Given the description of an element on the screen output the (x, y) to click on. 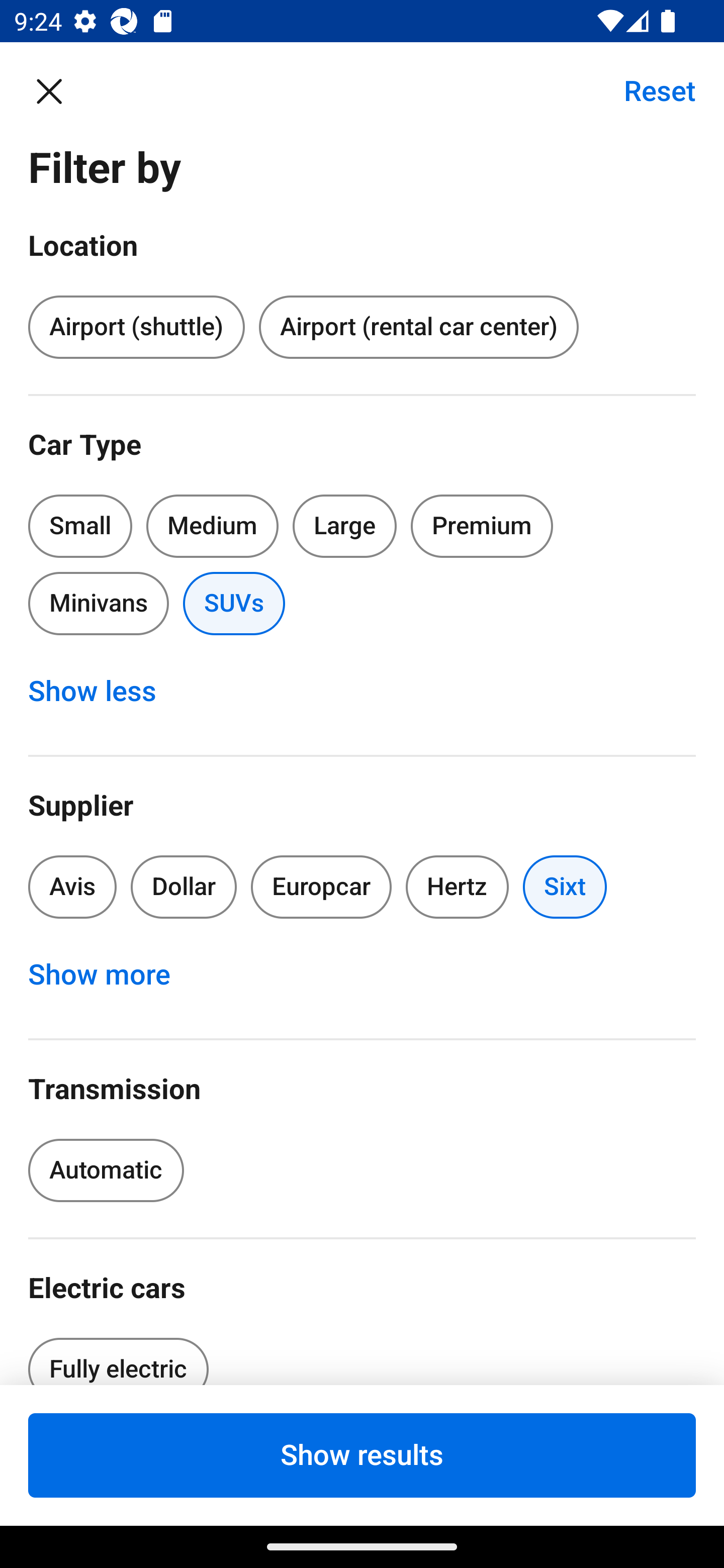
Close (59, 90)
Reset (649, 90)
Airport (shuttle) (136, 327)
Airport (rental car center) (418, 327)
Small (80, 525)
Medium (212, 525)
Large (344, 525)
Premium (482, 525)
Minivans (98, 603)
Show less (102, 691)
Avis (72, 887)
Dollar (183, 887)
Europcar (321, 887)
Hertz (457, 887)
Show more (109, 974)
Automatic (105, 1170)
Fully electric (118, 1355)
Show results (361, 1454)
